Given the description of an element on the screen output the (x, y) to click on. 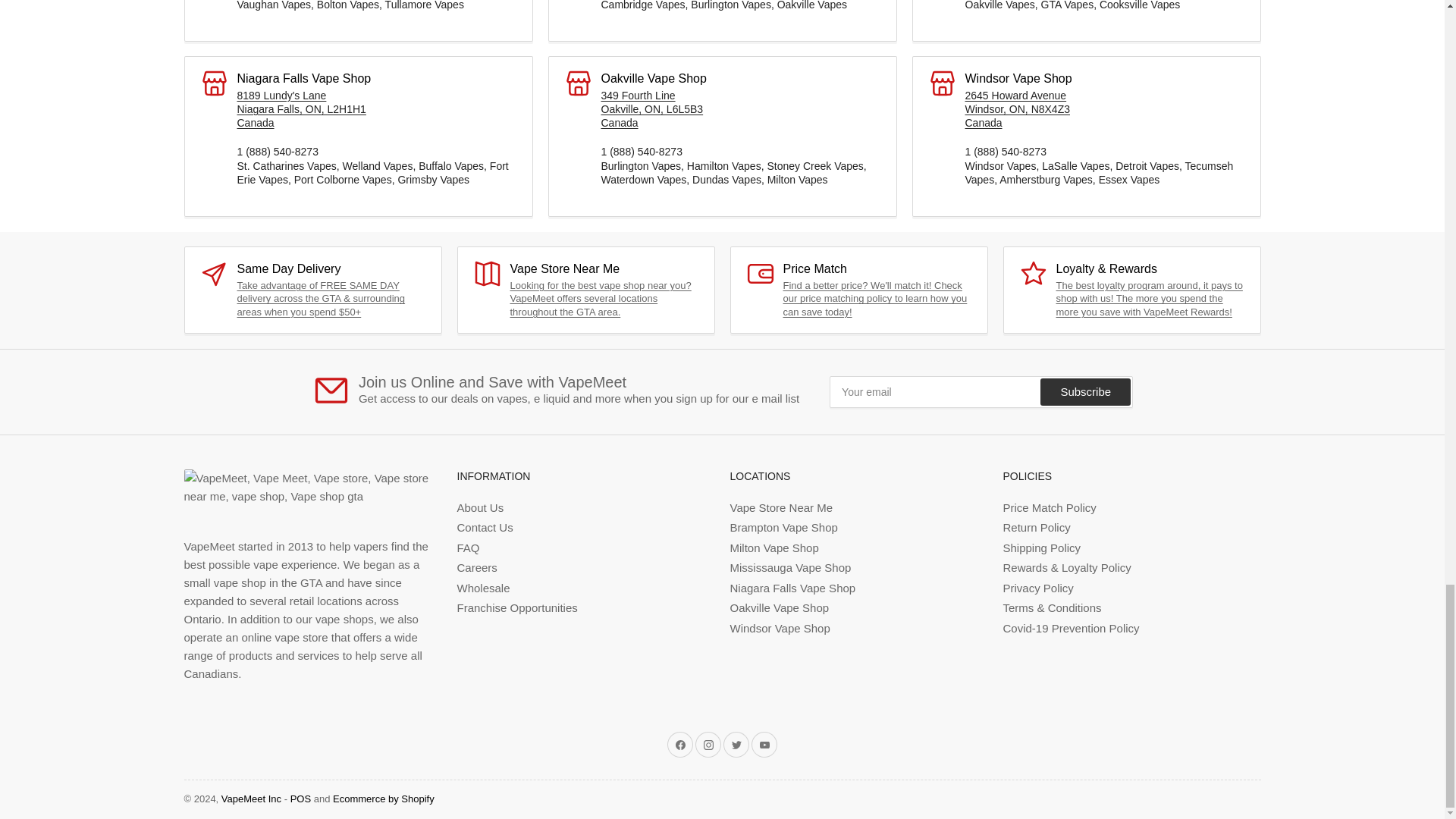
Windsor Vape Shop E-Cigarette E-Liquid Stores (1016, 108)
VapeMeet Oakville - The best vape store in Oakville (651, 108)
Shipping Policy (319, 298)
Vape Store Near Me (599, 298)
Price Match Policy (874, 298)
